Given the description of an element on the screen output the (x, y) to click on. 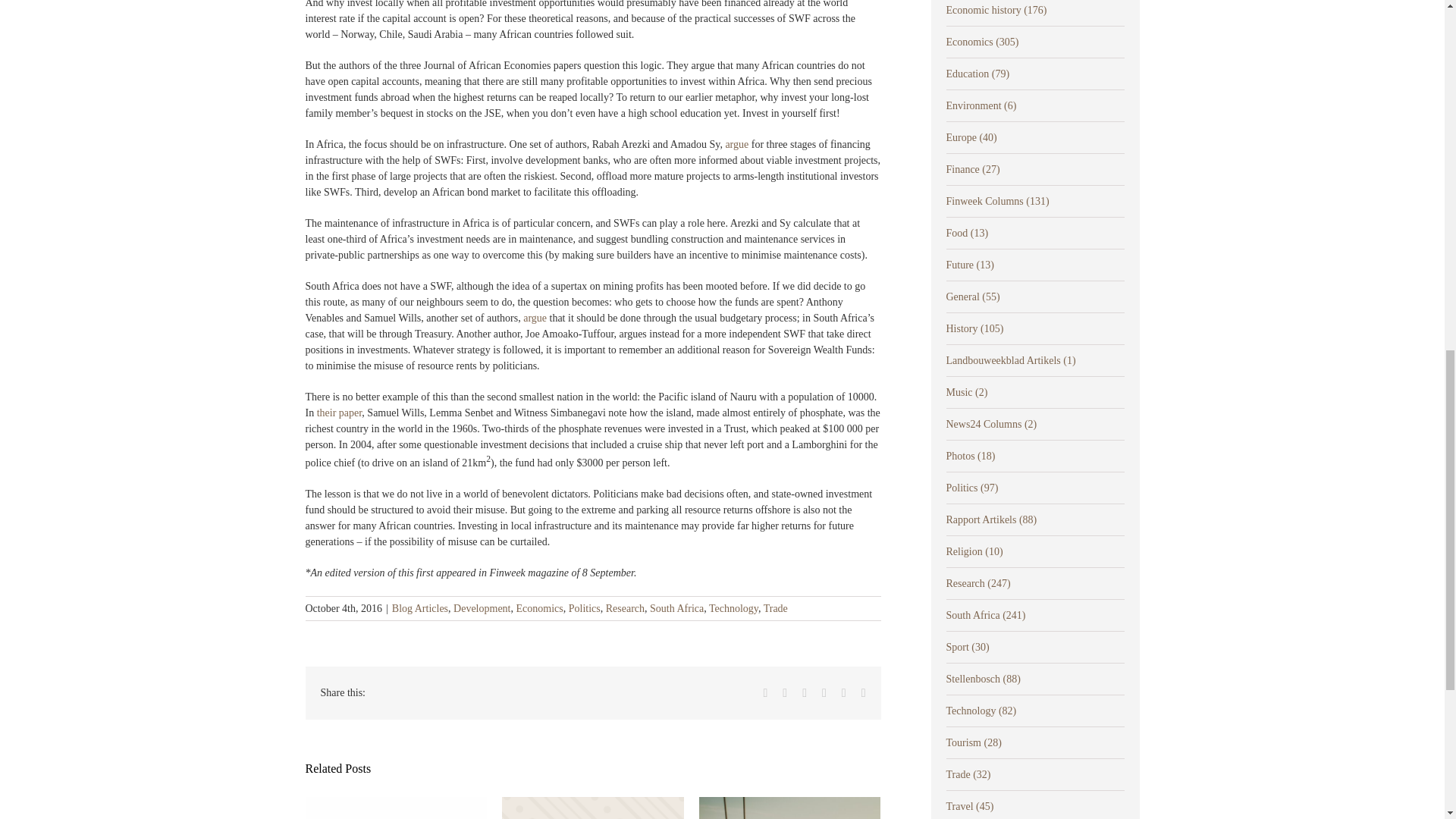
South Africa (676, 608)
argue (534, 317)
Politics (584, 608)
Blog Articles (419, 608)
Research (625, 608)
argue (736, 143)
Economics (538, 608)
their paper (339, 412)
Development (481, 608)
Trade (774, 608)
